Given the description of an element on the screen output the (x, y) to click on. 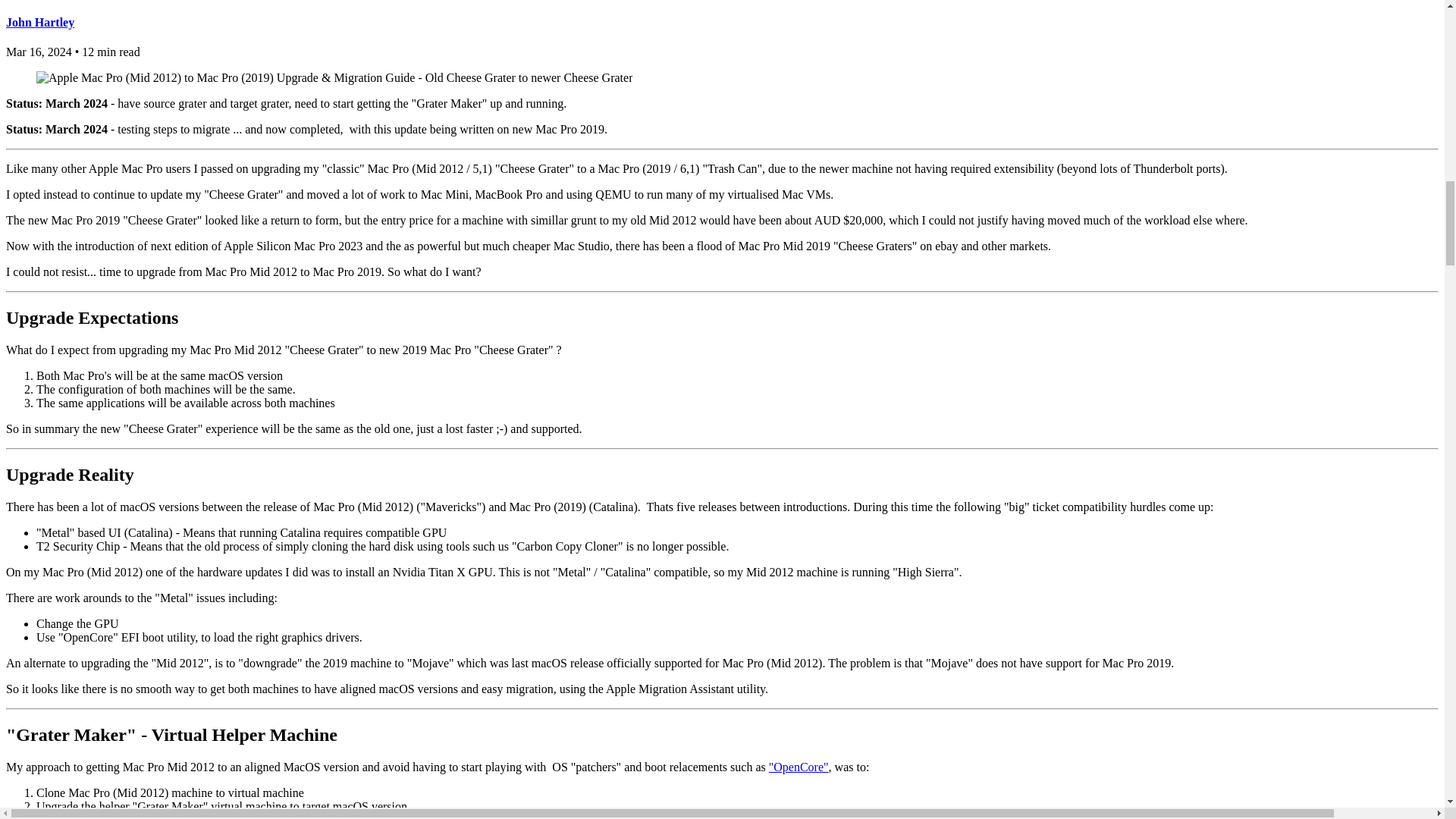
John Hartley (39, 21)
"OpenCore" (798, 766)
